Given the description of an element on the screen output the (x, y) to click on. 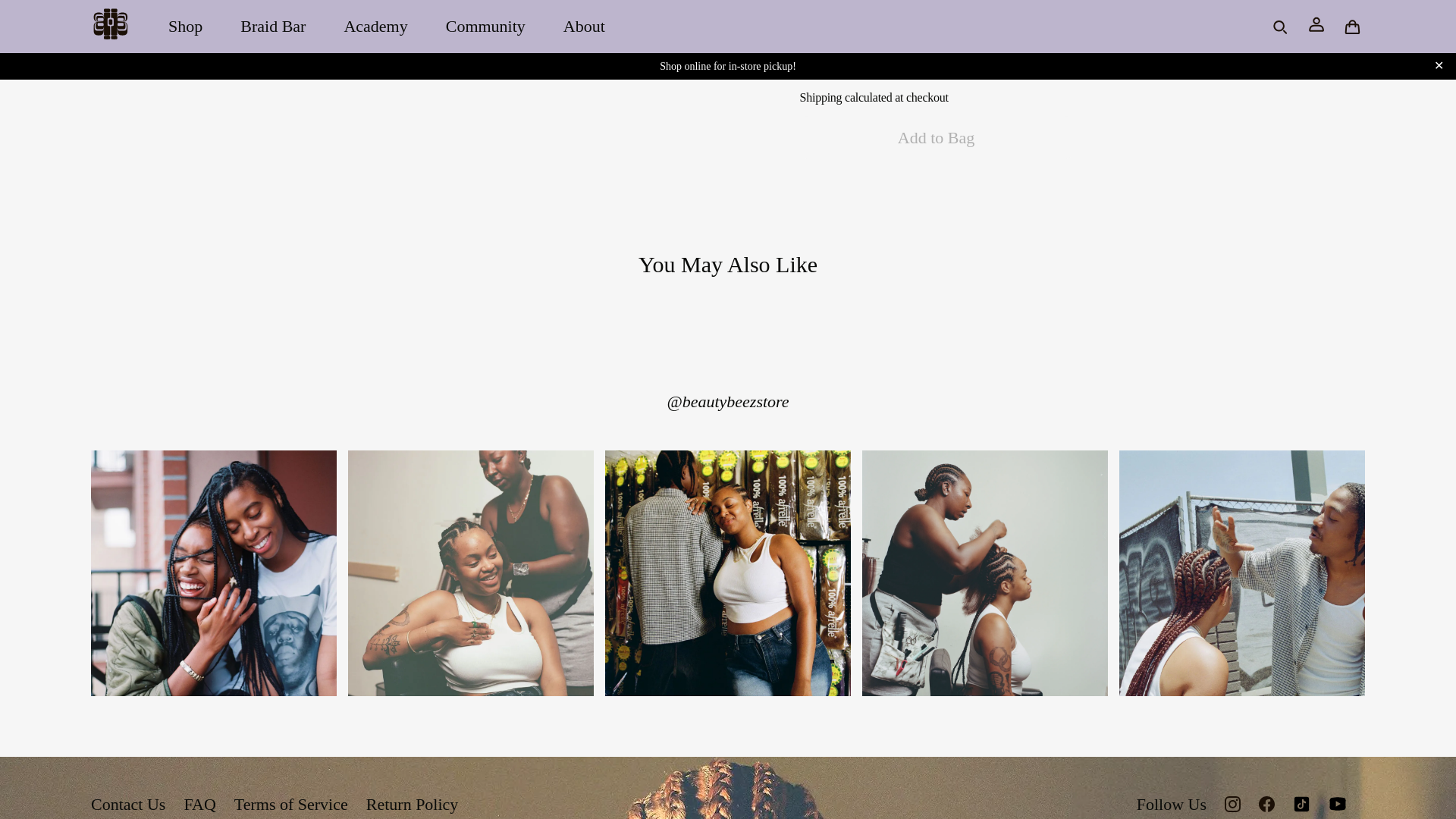
Return Policy (412, 804)
FAQ (199, 804)
Terms of Service (290, 804)
Contact Us (127, 804)
